Given the description of an element on the screen output the (x, y) to click on. 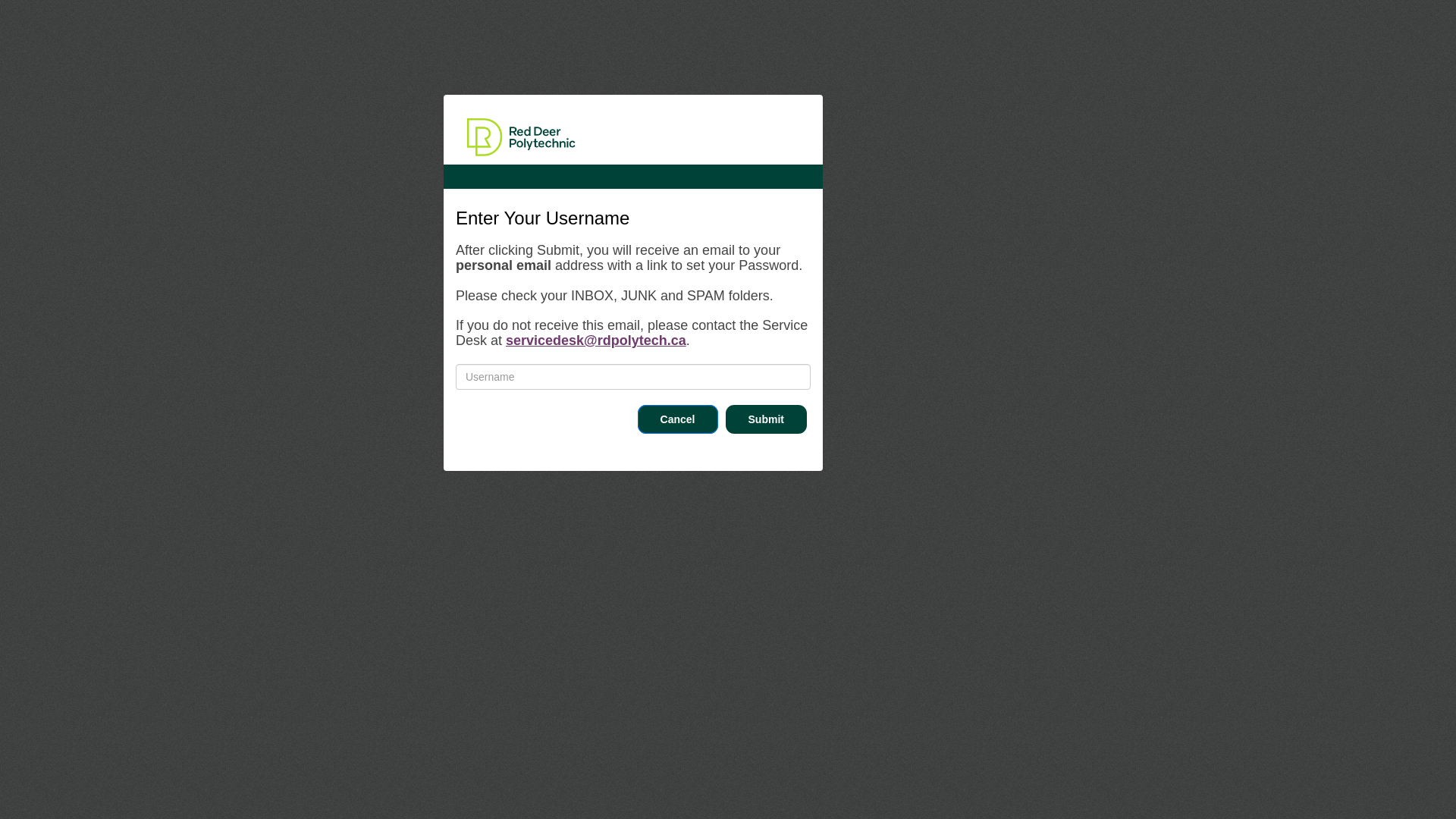
Submit Element type: text (765, 418)
servicedesk@rdpolytech.ca Element type: text (595, 340)
Red Deer Polytechnic Element type: hover (521, 137)
Cancel Element type: text (677, 418)
